Given the description of an element on the screen output the (x, y) to click on. 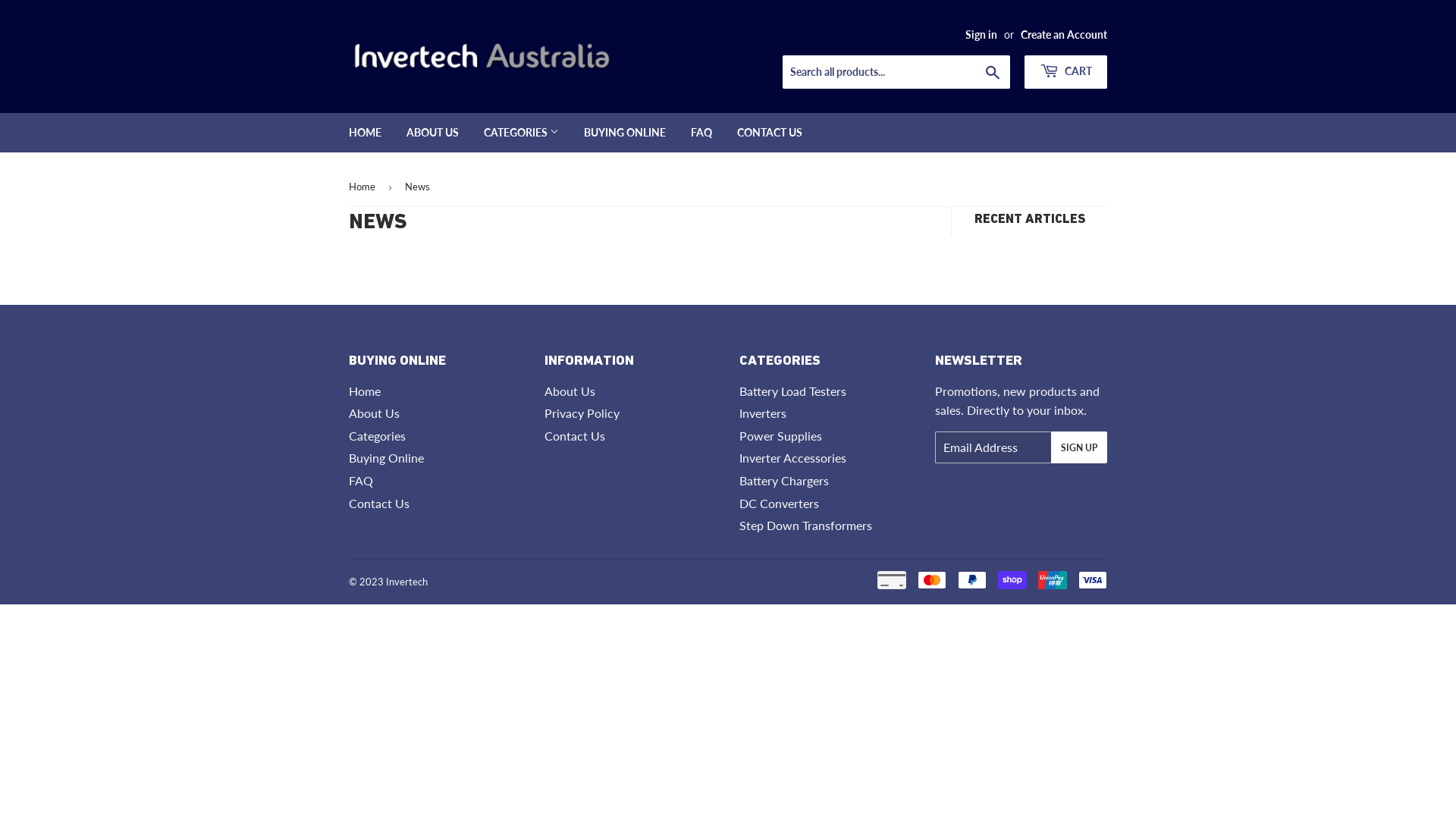
Battery Chargers Element type: text (783, 480)
About Us Element type: text (569, 390)
Create an Account Element type: text (1063, 34)
Search Element type: text (992, 72)
Inverters Element type: text (762, 412)
BUYING ONLINE Element type: text (624, 132)
Invertech Element type: text (406, 581)
Power Supplies Element type: text (780, 435)
CATEGORIES Element type: text (521, 132)
Home Element type: text (364, 390)
Inverter Accessories Element type: text (792, 457)
Buying Online Element type: text (385, 457)
CART Element type: text (1065, 71)
About Us Element type: text (373, 412)
ABOUT US Element type: text (432, 132)
Contact Us Element type: text (378, 502)
FAQ Element type: text (360, 480)
Sign in Element type: text (981, 34)
Step Down Transformers Element type: text (805, 524)
Categories Element type: text (376, 435)
SIGN UP Element type: text (1079, 447)
Privacy Policy Element type: text (581, 412)
Home Element type: text (364, 186)
FAQ Element type: text (701, 132)
Contact Us Element type: text (574, 435)
CONTACT US Element type: text (769, 132)
Battery Load Testers Element type: text (792, 390)
HOME Element type: text (364, 132)
DC Converters Element type: text (779, 502)
